Given the description of an element on the screen output the (x, y) to click on. 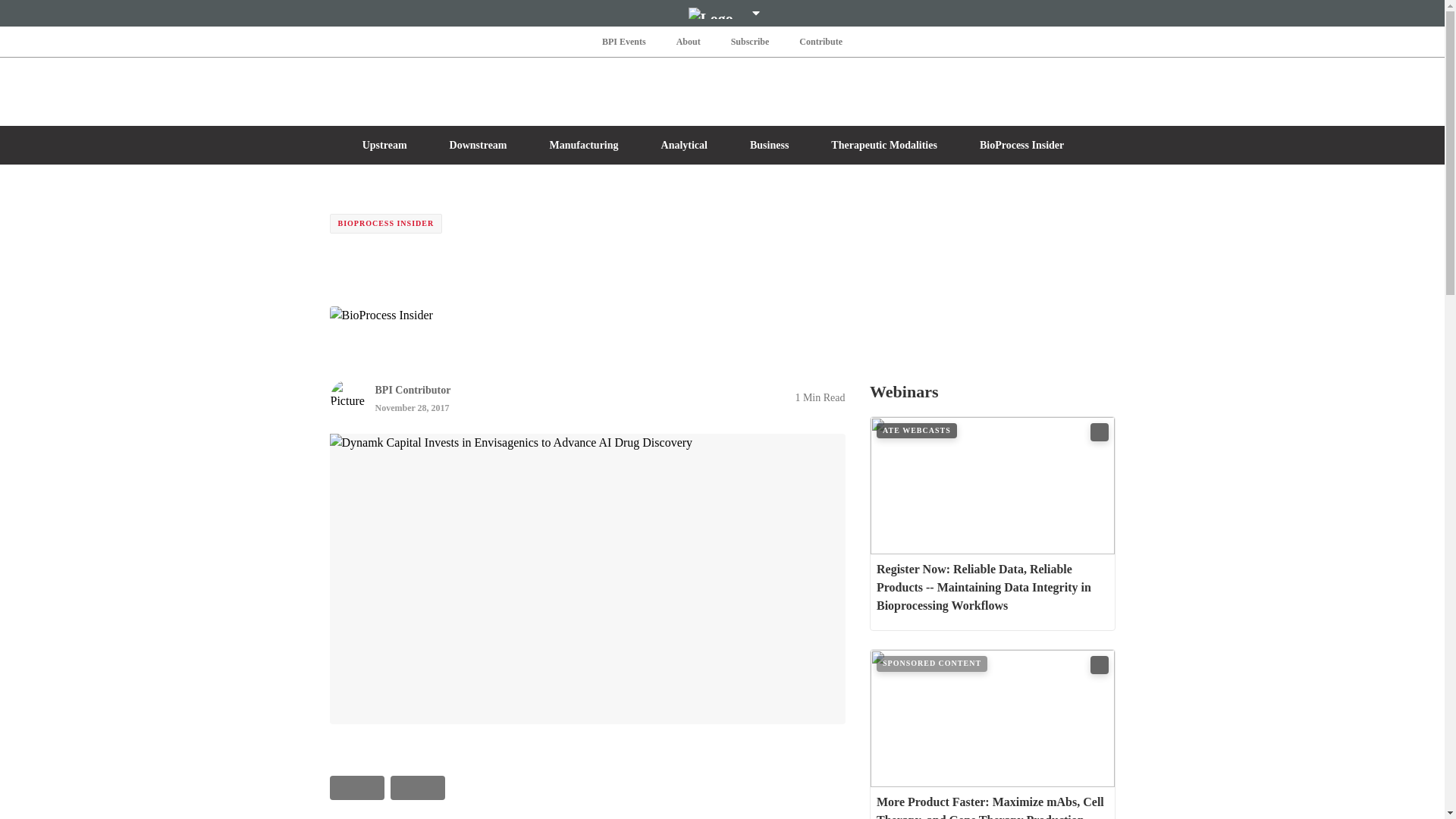
About (687, 41)
Contribute (820, 41)
BioProcess Insider (380, 315)
BPI Events (623, 41)
Picture of BPI Contributor (347, 397)
Subscribe (750, 41)
